Given the description of an element on the screen output the (x, y) to click on. 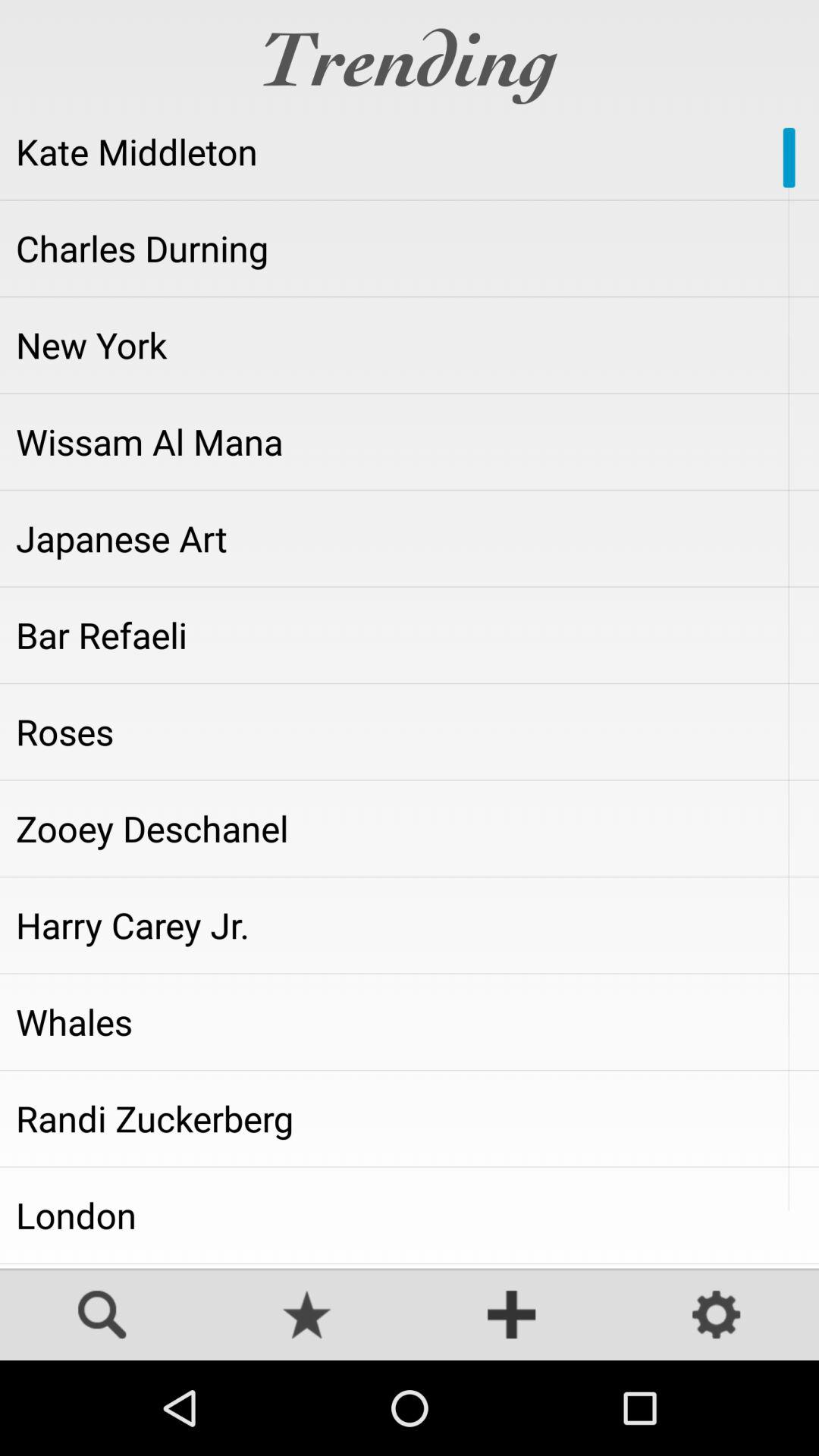
toggles settings screen (716, 1316)
